Given the description of an element on the screen output the (x, y) to click on. 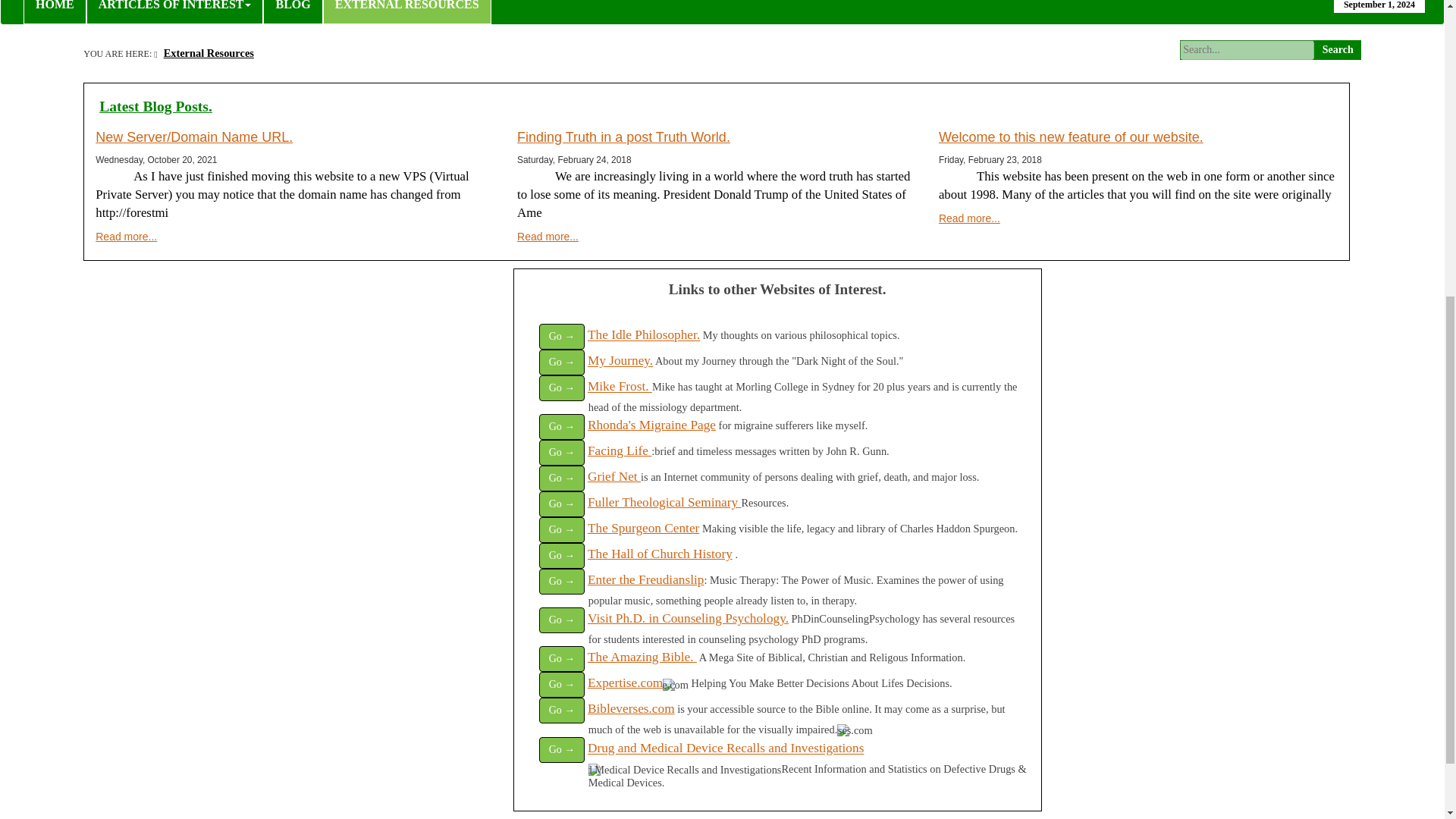
Click to follow. (619, 450)
Read more... (969, 218)
Read more... (126, 236)
External Resources (206, 52)
Click to follow. (620, 386)
Click to follow. (660, 554)
The Idle Philosopher. (644, 335)
Click to follow. (652, 424)
Click to follow. (631, 708)
BLOG (292, 12)
